Given the description of an element on the screen output the (x, y) to click on. 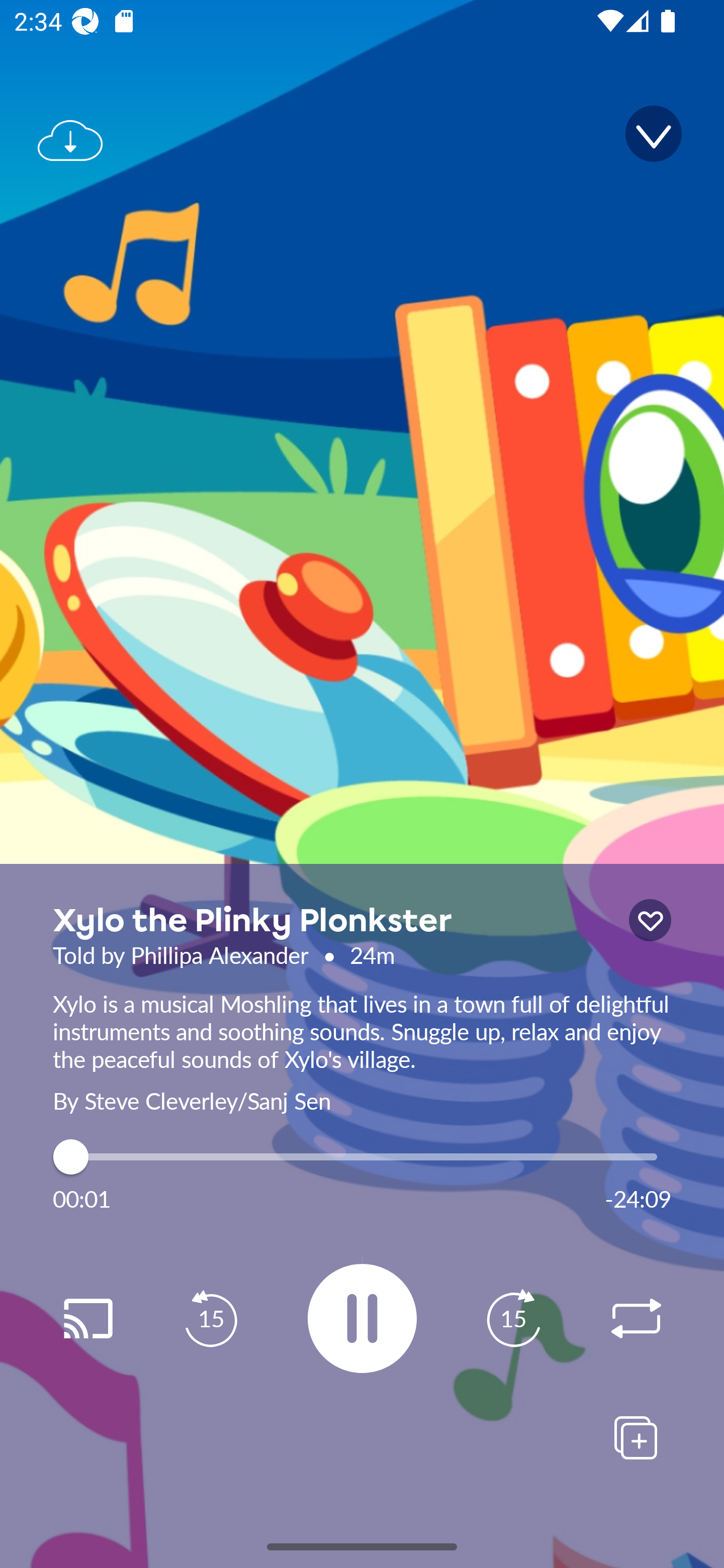
lock icon (650, 920)
6.953825E-4 Pause (361, 1317)
Replay (87, 1318)
Replay 15 (210, 1318)
Replay 15 (513, 1318)
Replay (635, 1318)
Add To Playlists (635, 1437)
